Given the description of an element on the screen output the (x, y) to click on. 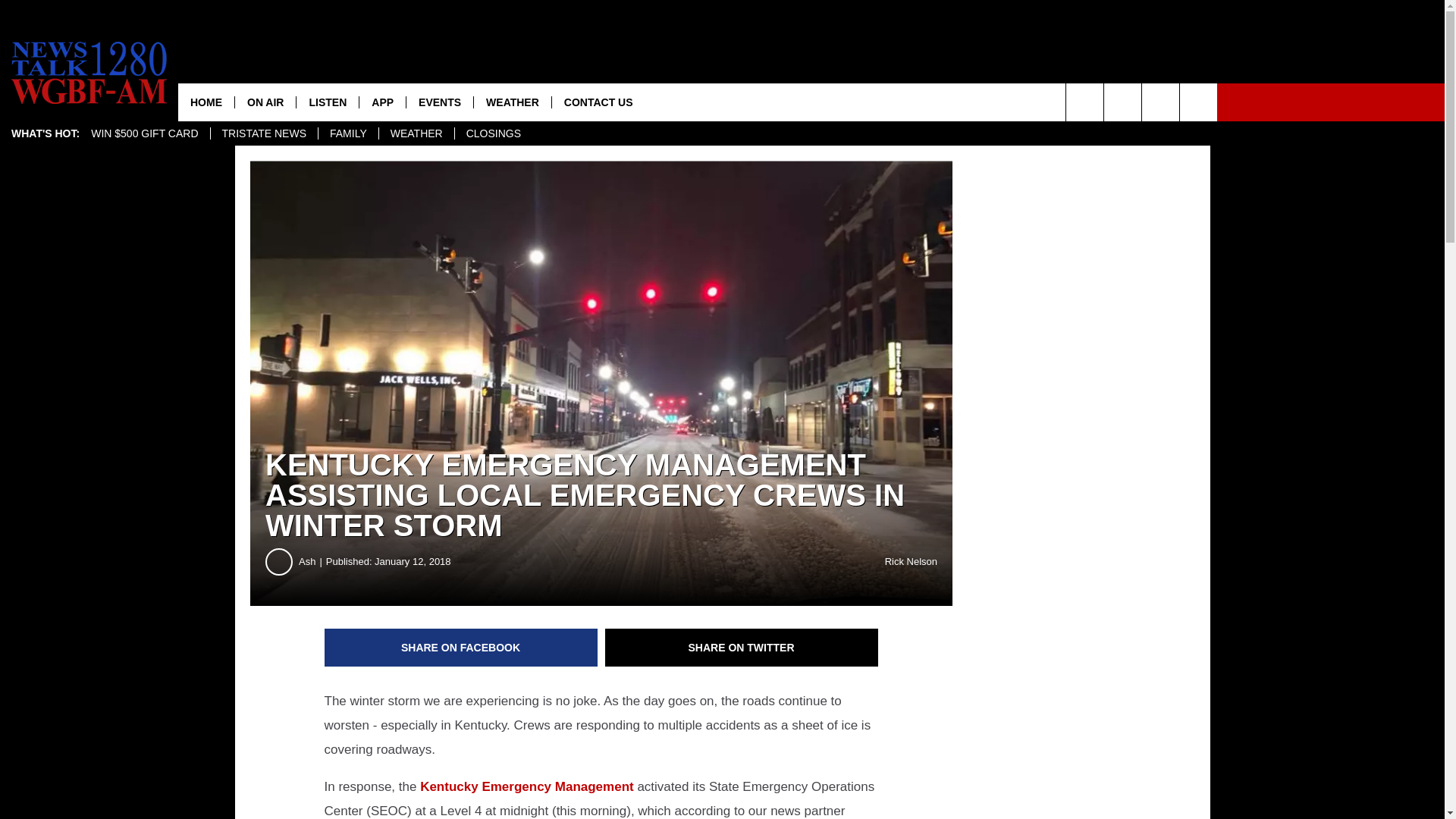
CLOSINGS (493, 133)
WEATHER (512, 102)
APP (382, 102)
Share on Facebook (460, 647)
WEATHER (416, 133)
HOME (205, 102)
FAMILY (347, 133)
LISTEN (326, 102)
ON AIR (264, 102)
EVENTS (439, 102)
